Given the description of an element on the screen output the (x, y) to click on. 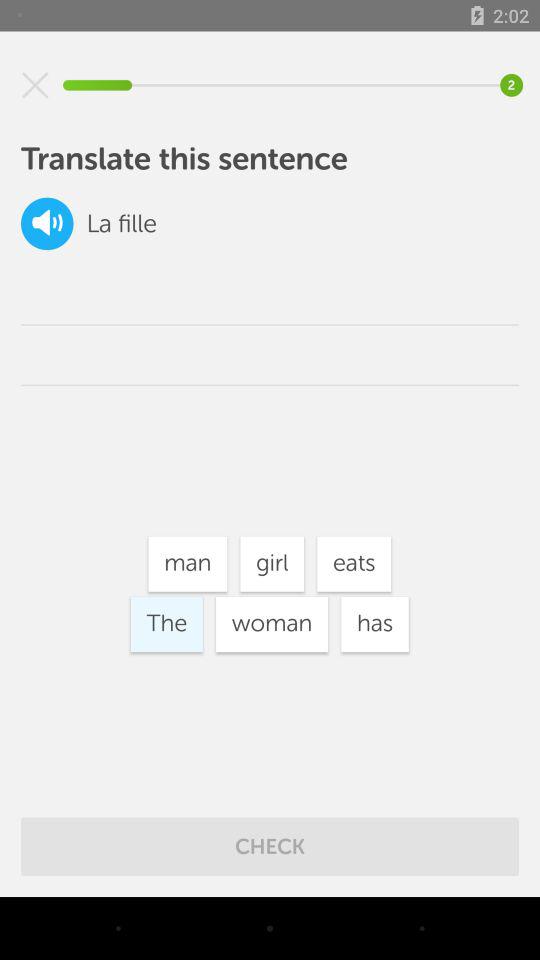
select the icon next to woman icon (374, 624)
